Given the description of an element on the screen output the (x, y) to click on. 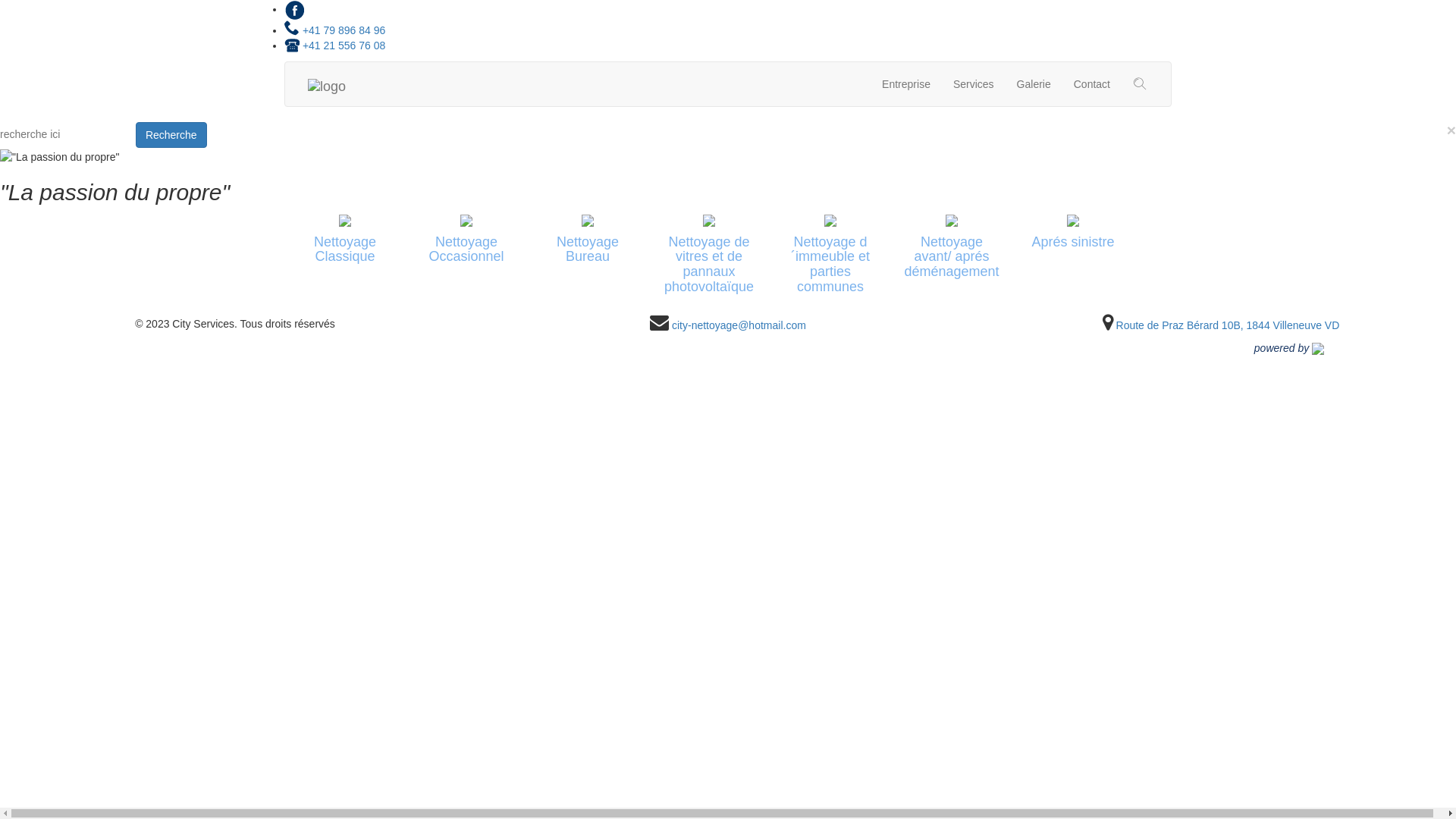
+41 21 556 76 08 Element type: text (334, 45)
Nettoyage Bureau Element type: text (587, 239)
Nettoyage Occasionnel Element type: text (466, 239)
Galerie Element type: text (1033, 84)
Entreprise Element type: text (905, 84)
Contact Element type: text (1091, 84)
city-nettoyage@hotmail.com Element type: text (738, 325)
Recherche Element type: text (171, 134)
Nettoyage Classique Element type: text (344, 239)
+41 79 896 84 96 Element type: text (334, 30)
Services Element type: text (973, 84)
